Given the description of an element on the screen output the (x, y) to click on. 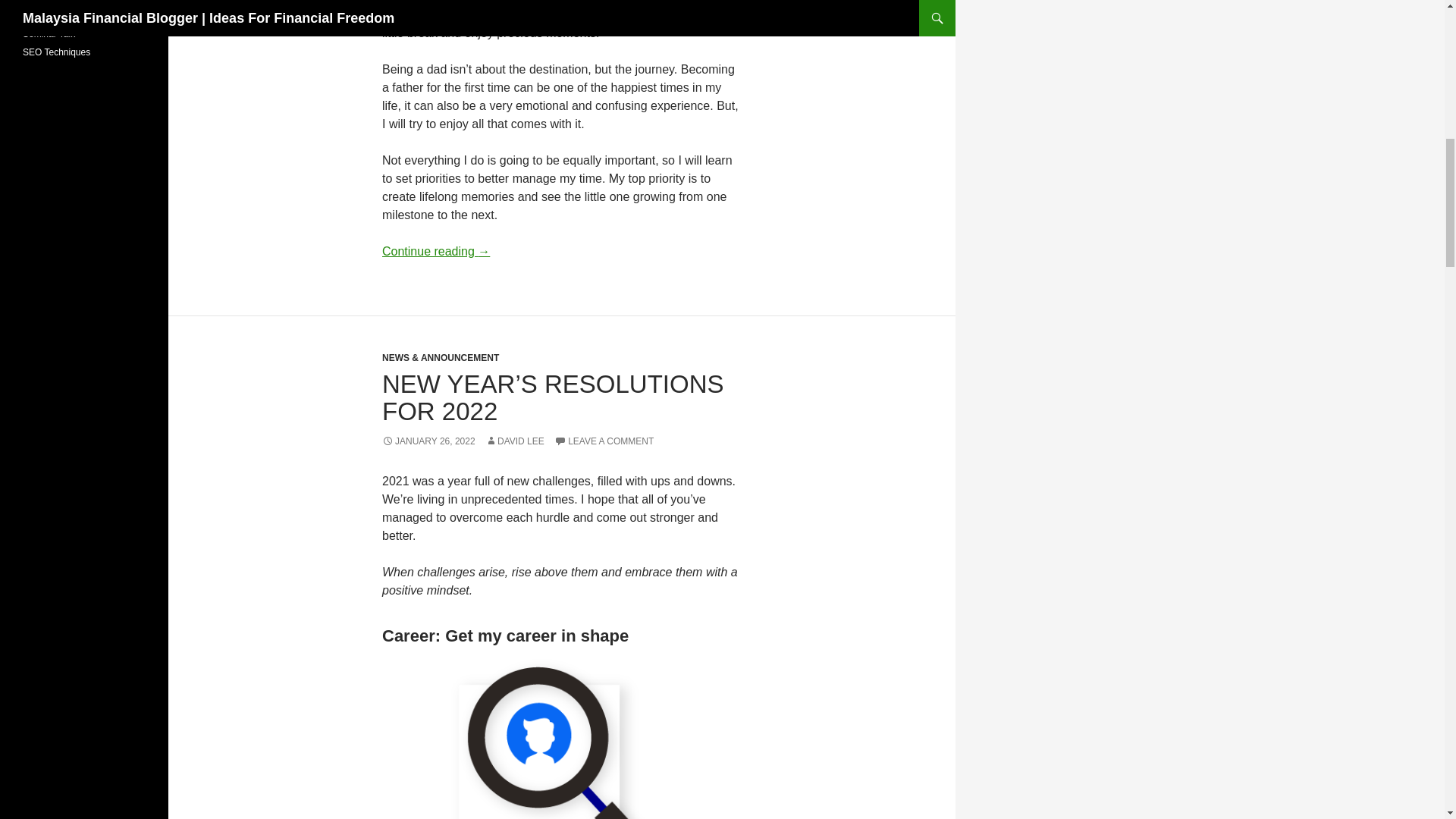
LEAVE A COMMENT (603, 440)
DAVID LEE (514, 440)
JANUARY 26, 2022 (428, 440)
